Given the description of an element on the screen output the (x, y) to click on. 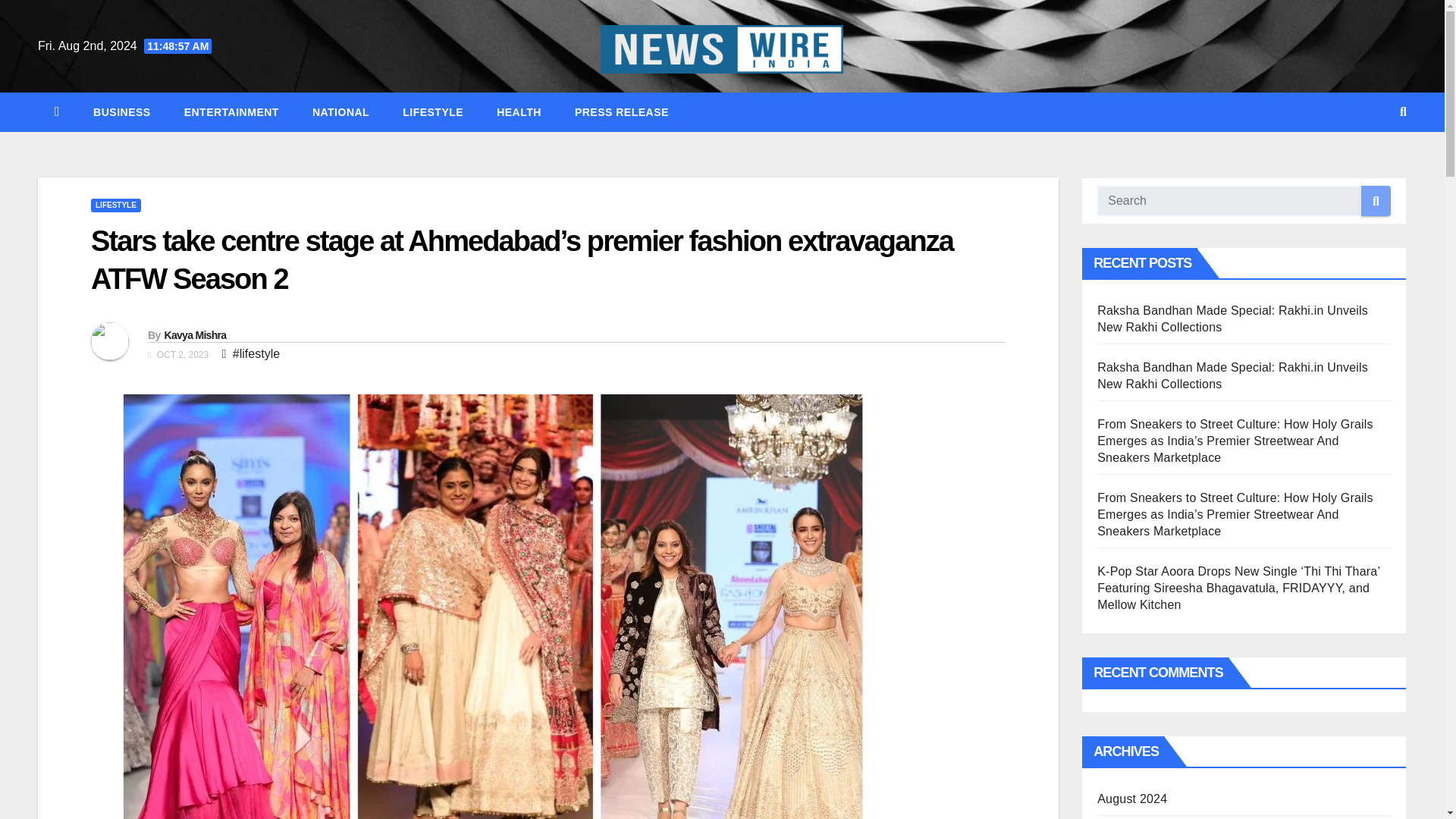
Health (518, 111)
LIFESTYLE (432, 111)
LIFESTYLE (115, 205)
BUSINESS (122, 111)
Press Release (621, 111)
Lifestyle (432, 111)
ENTERTAINMENT (231, 111)
PRESS RELEASE (621, 111)
National (340, 111)
Business (122, 111)
Kavya Mishra (194, 335)
NATIONAL (340, 111)
Entertainment (231, 111)
HEALTH (518, 111)
